Given the description of an element on the screen output the (x, y) to click on. 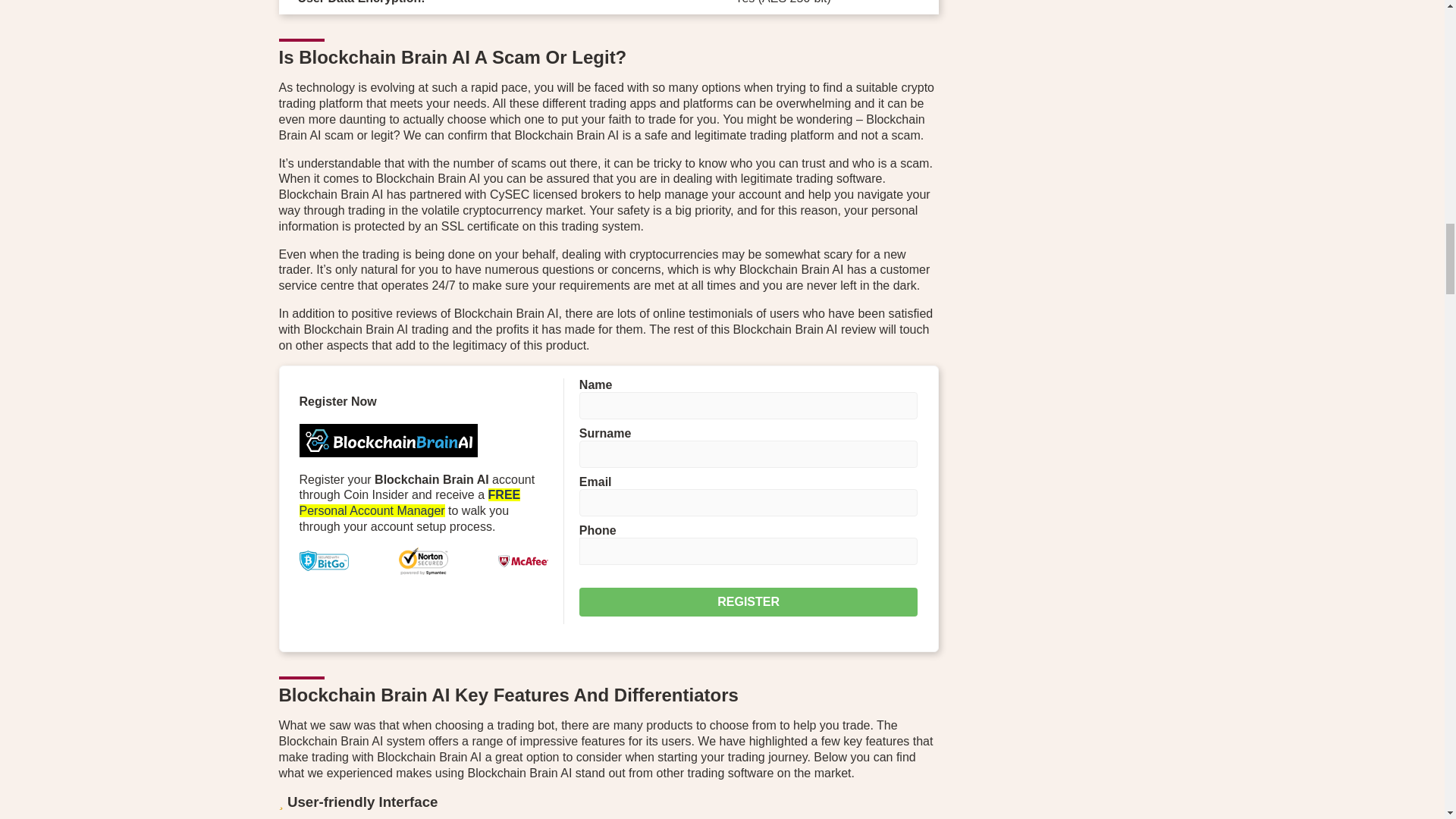
Register (748, 602)
